Given the description of an element on the screen output the (x, y) to click on. 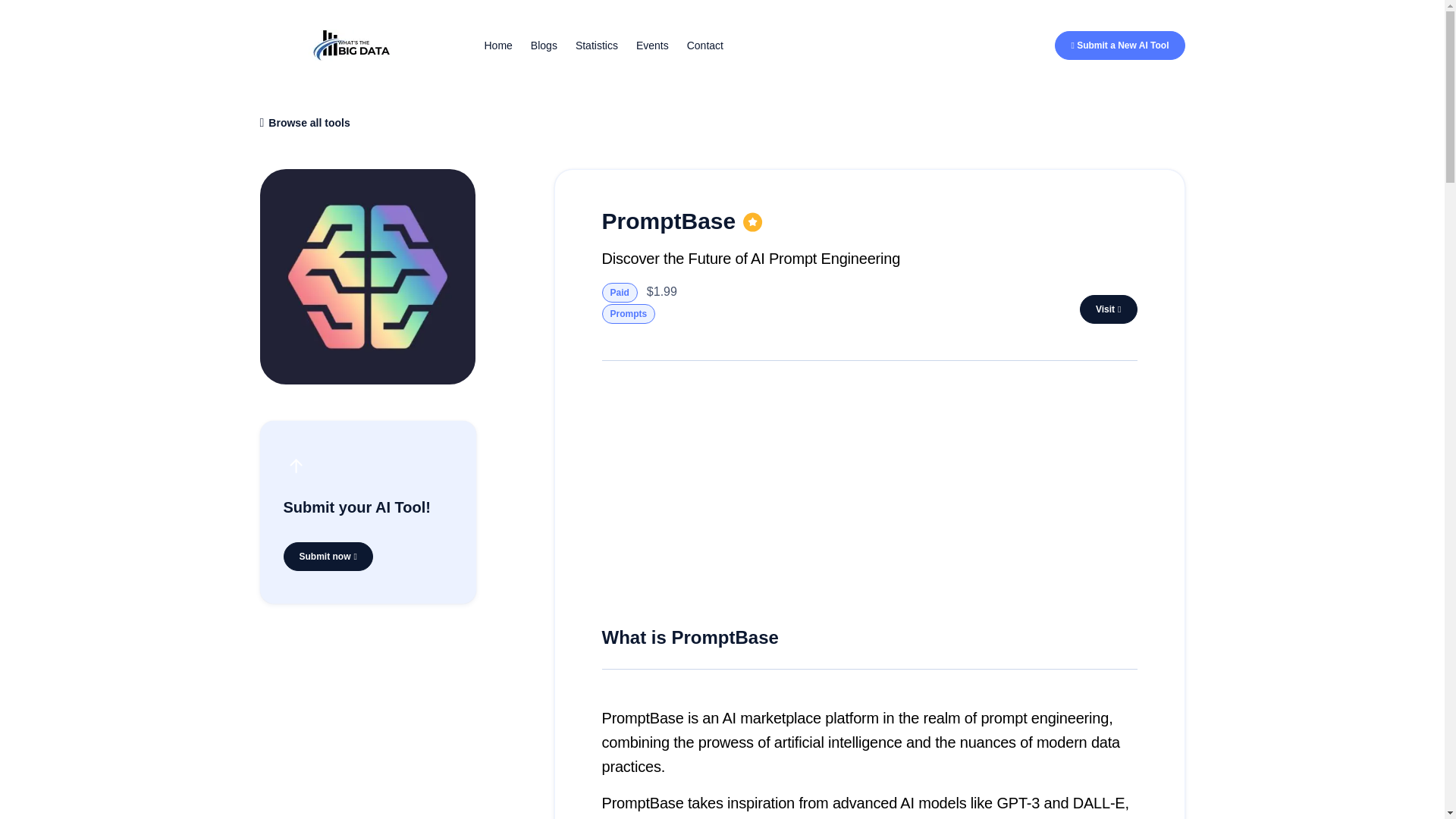
Events (652, 45)
Paid (619, 292)
Blogs (544, 45)
Contact (705, 45)
Statistics (596, 45)
Prompts (629, 313)
Home (497, 45)
